Given the description of an element on the screen output the (x, y) to click on. 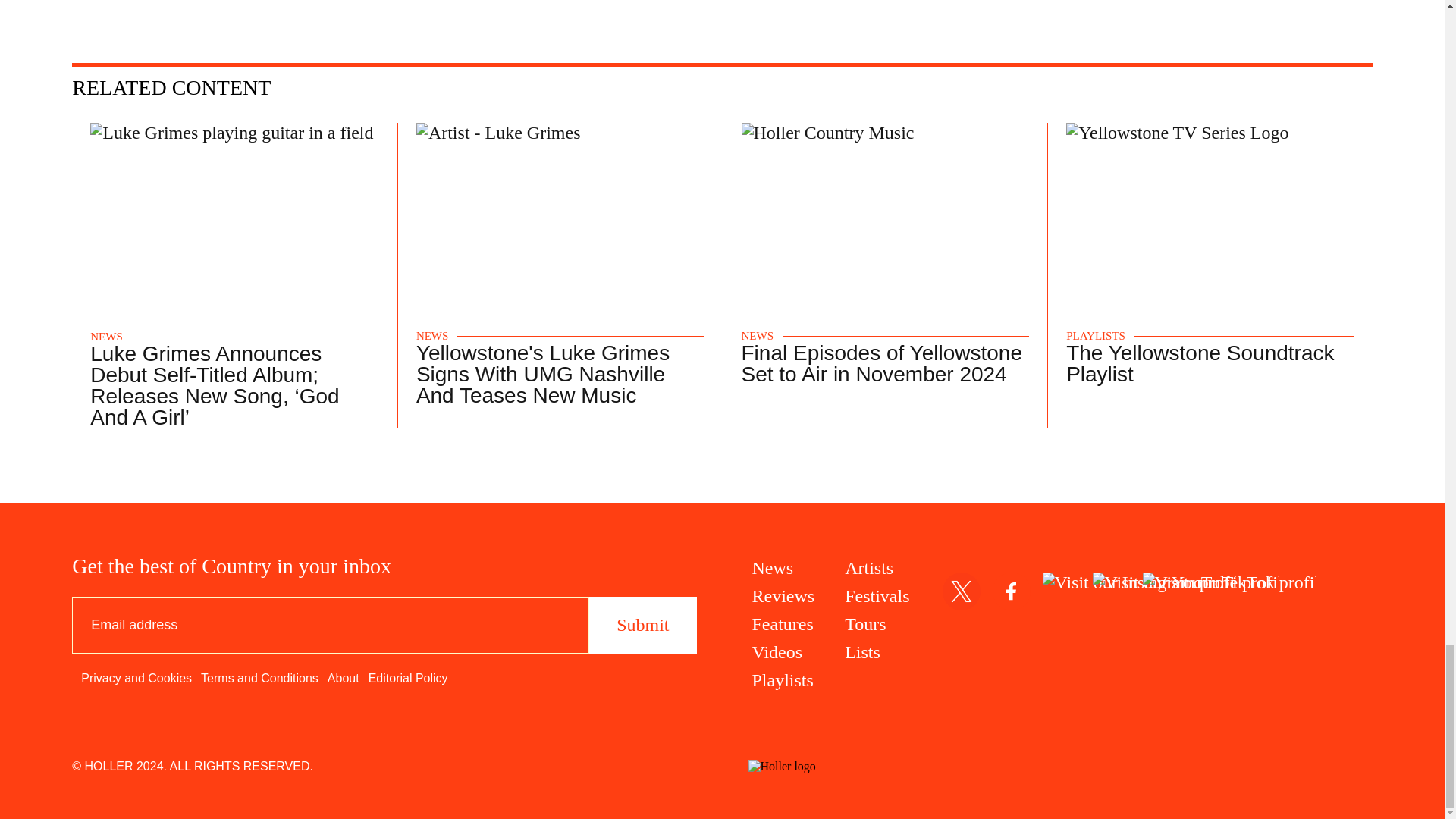
The Yellowstone Soundtrack Playlist (1199, 363)
NEWS (757, 336)
NEWS (106, 336)
NEWS (432, 336)
Final Episodes of Yellowstone Set to Air in November 2024 (881, 363)
Submit (642, 625)
About (343, 678)
Privacy and Cookies (136, 678)
PLAYLISTS (1095, 336)
Terms and Conditions (259, 678)
